Given the description of an element on the screen output the (x, y) to click on. 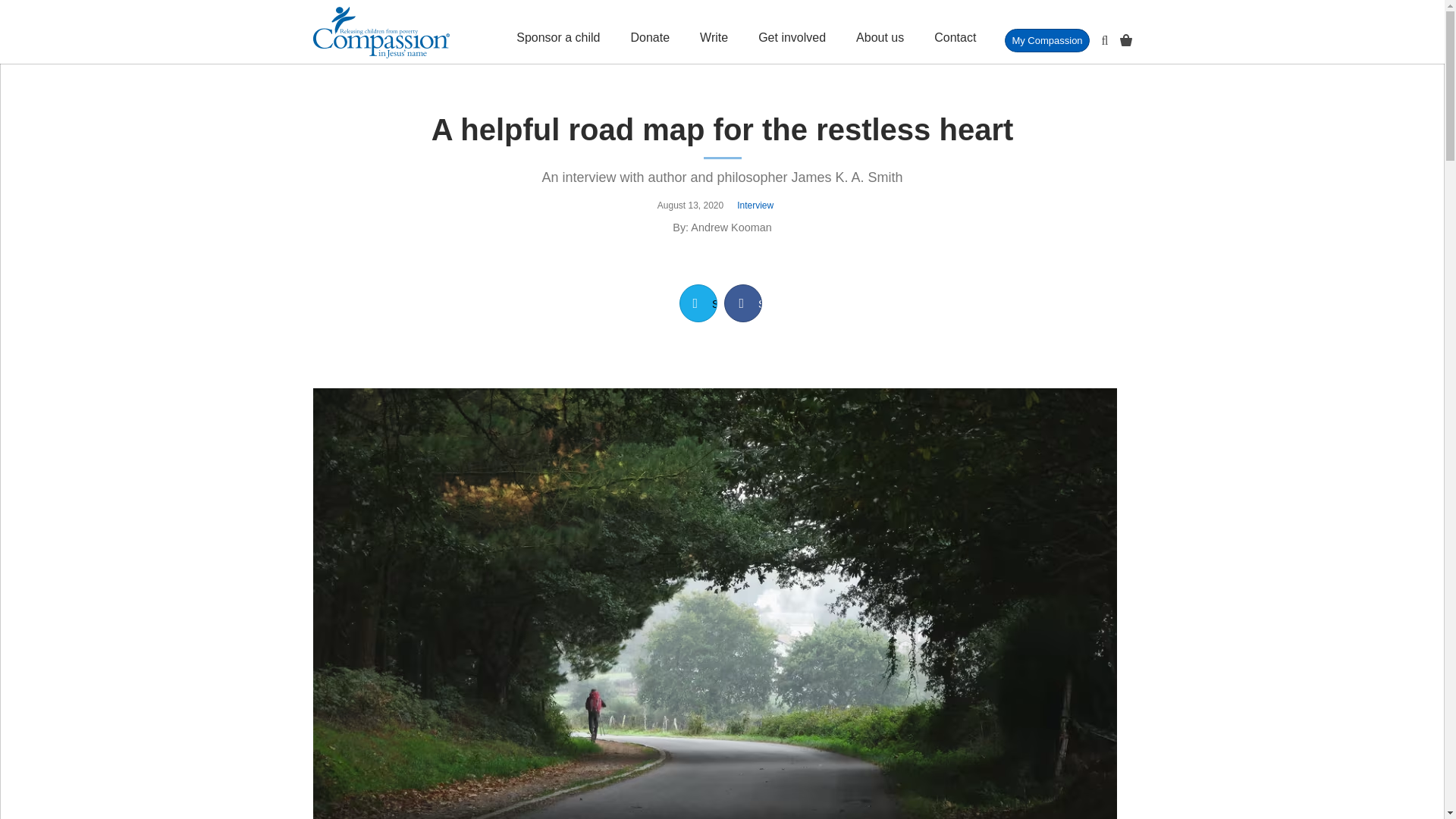
Compassion Canada (380, 32)
My Compassion (1046, 40)
Get involved (791, 31)
Sponsor a child (557, 31)
